Given the description of an element on the screen output the (x, y) to click on. 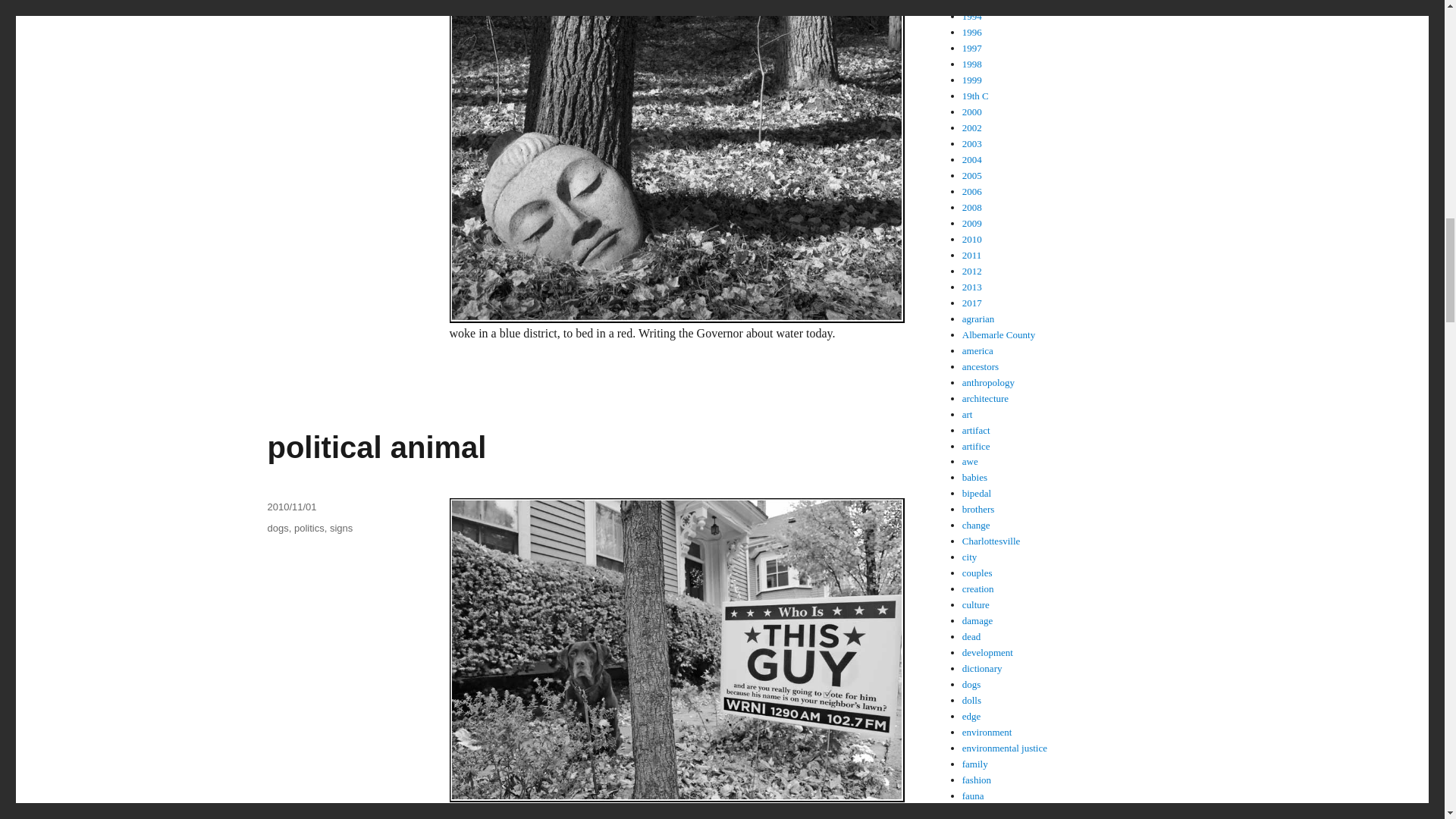
politics (309, 527)
dogs (277, 527)
dolls (276, 9)
signs (341, 527)
political animal (376, 447)
politics (307, 9)
